Given the description of an element on the screen output the (x, y) to click on. 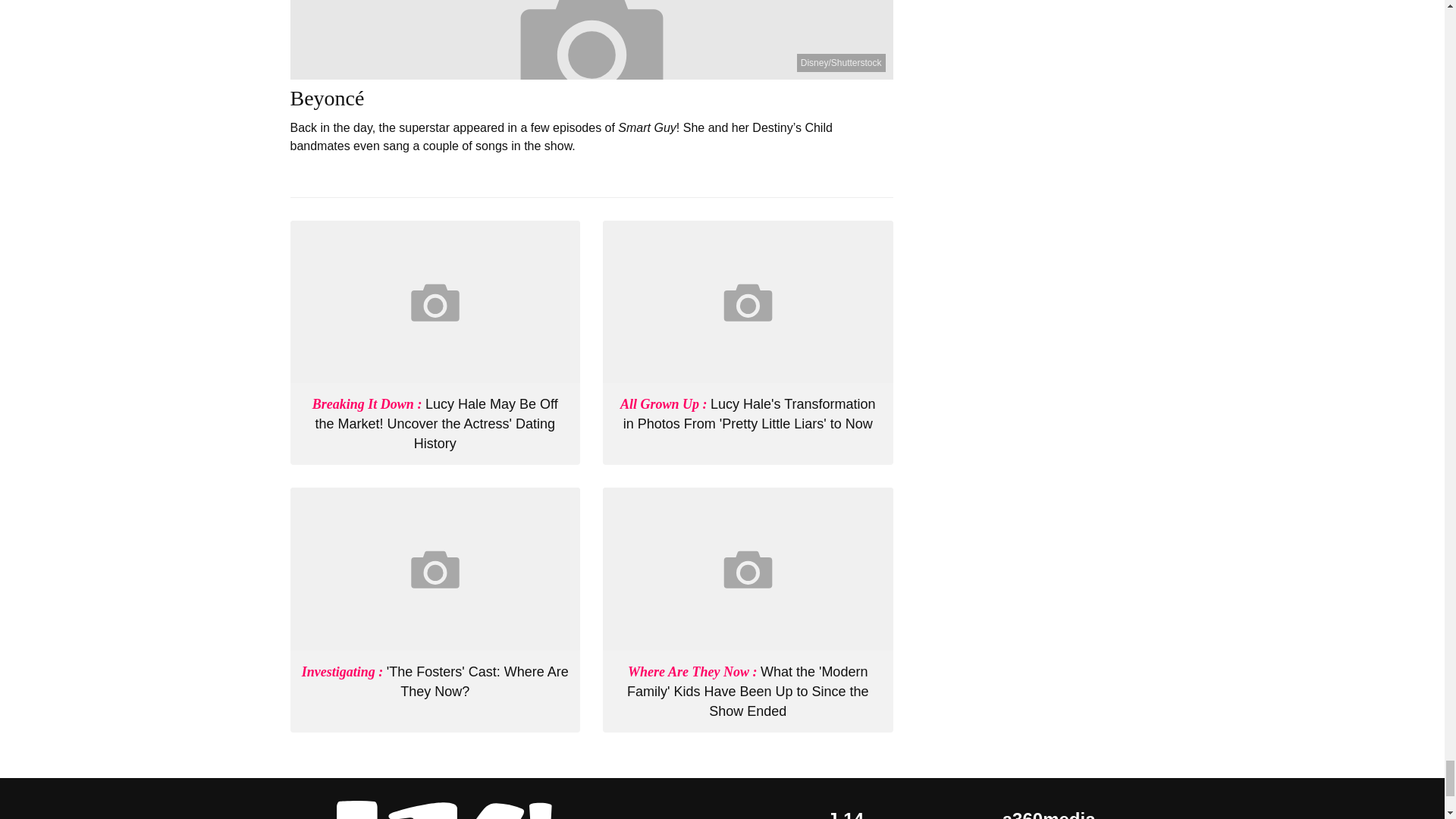
Home (434, 809)
